Given the description of an element on the screen output the (x, y) to click on. 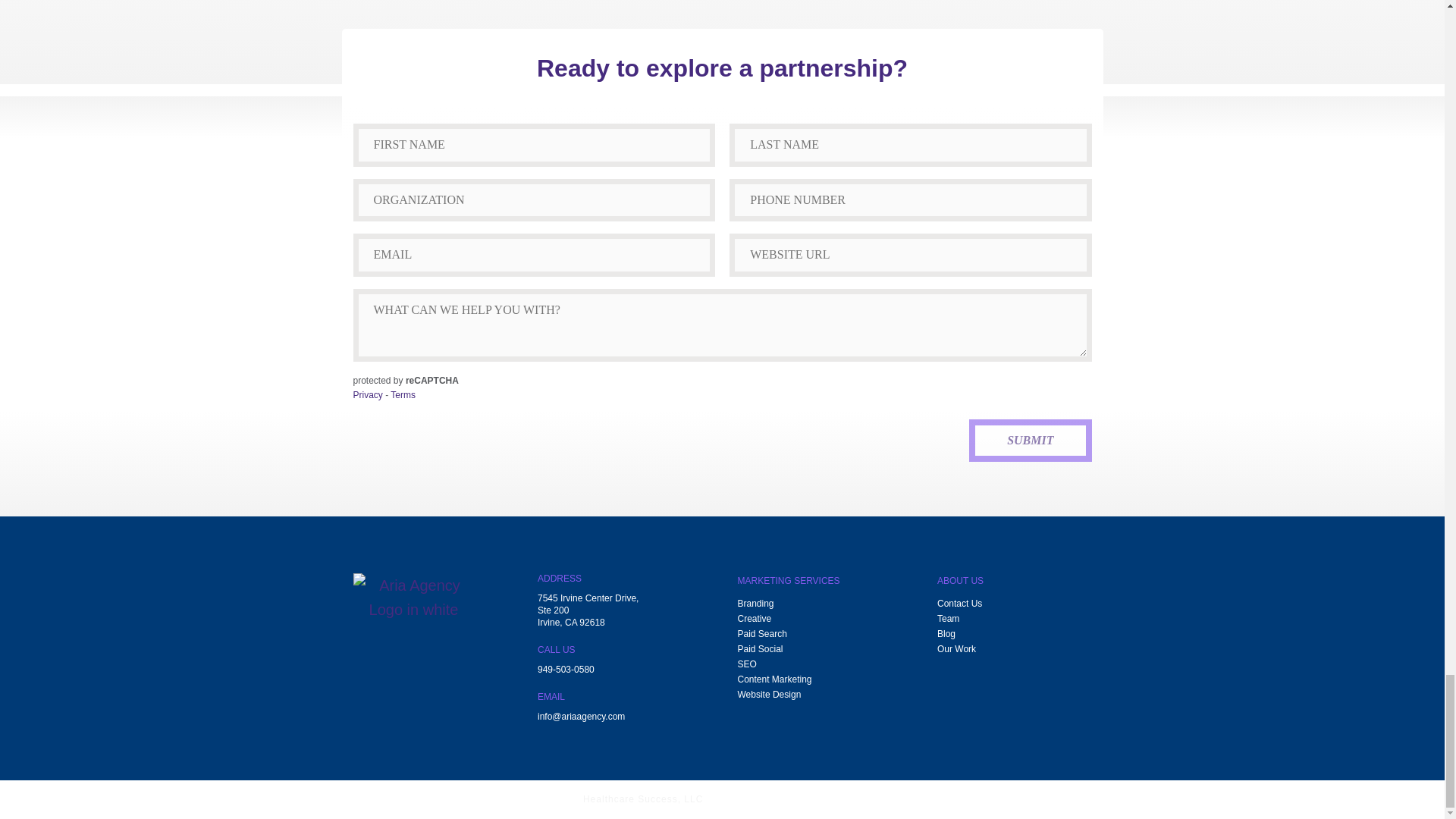
MARKETING SERVICES (788, 584)
ABOUT US (960, 584)
SEO (745, 663)
Website Design (768, 694)
Paid Search (761, 633)
949-503-0580 (565, 670)
Paid Social (759, 648)
Branding (754, 603)
Submit (1029, 440)
Privacy (367, 394)
Creative (753, 618)
Terms (402, 394)
Content Marketing (773, 679)
Submit (1029, 440)
Contact Us (959, 603)
